Given the description of an element on the screen output the (x, y) to click on. 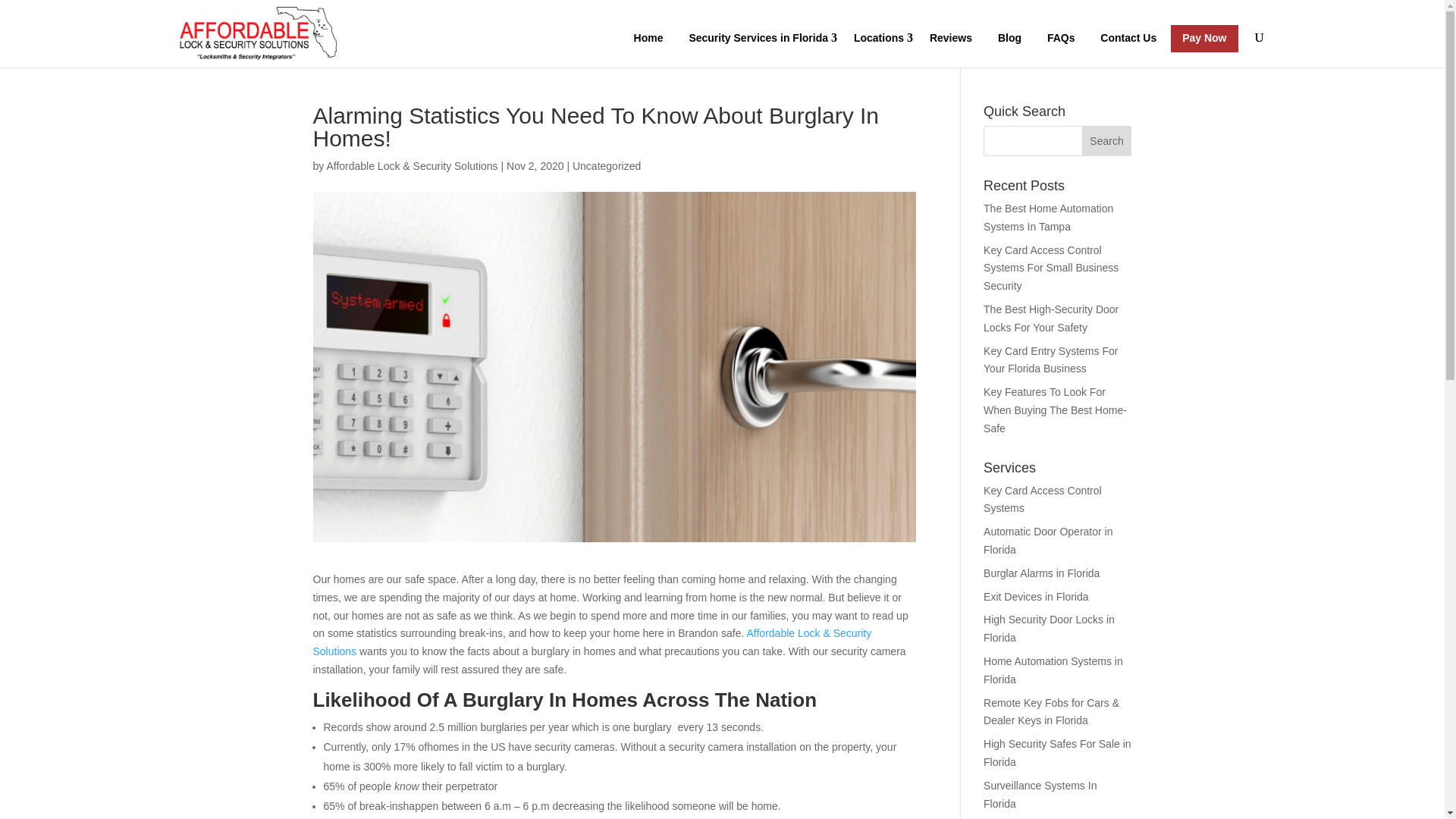
Locations (879, 38)
Contact Us (1128, 38)
Blog (1009, 38)
Reviews (951, 38)
Pay Now (1203, 38)
Security Services in Florida (758, 38)
Search (1106, 141)
FAQs (1060, 38)
Home (649, 38)
Uncategorized (606, 165)
